Given the description of an element on the screen output the (x, y) to click on. 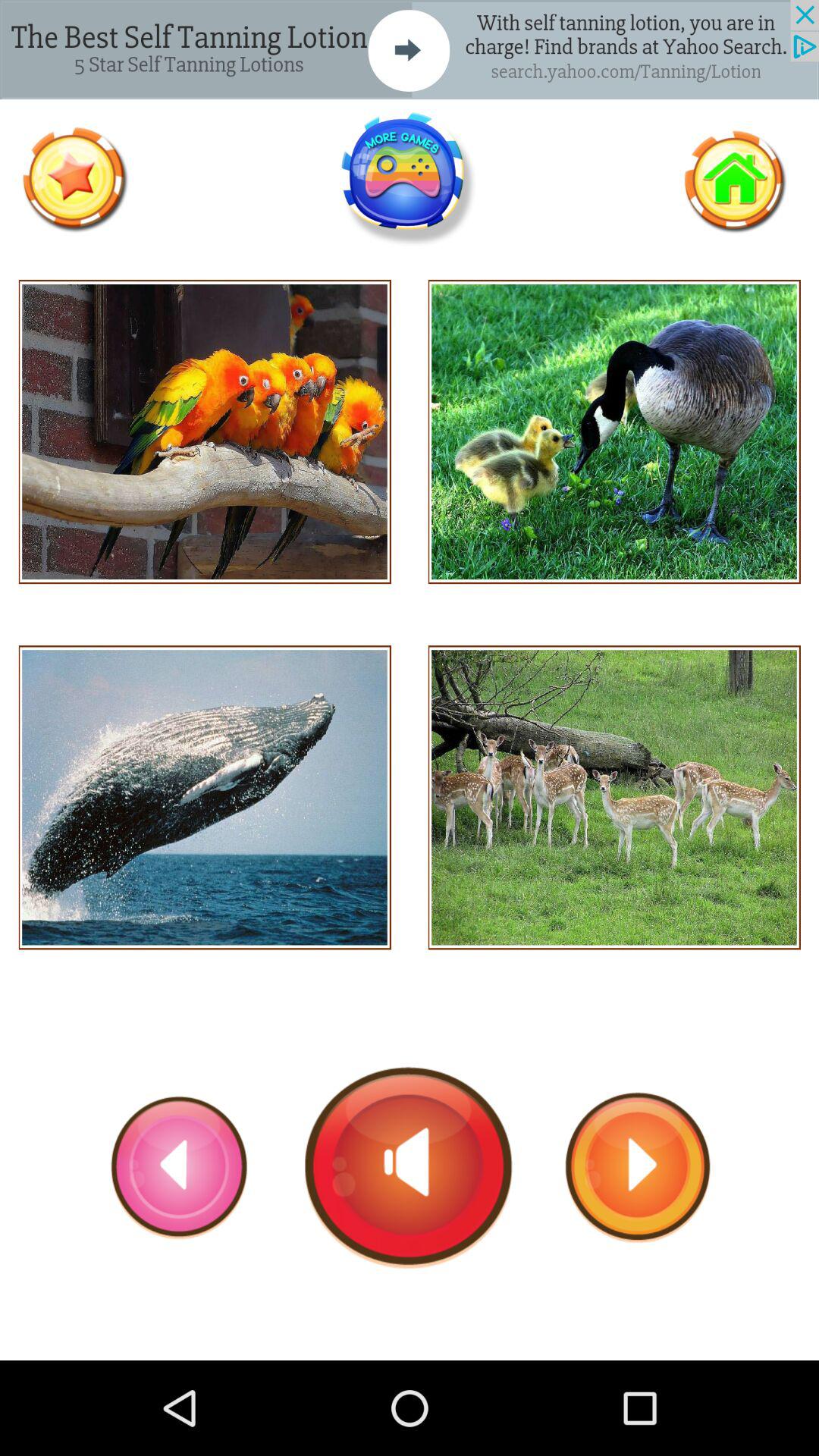
return home (734, 179)
